Given the description of an element on the screen output the (x, y) to click on. 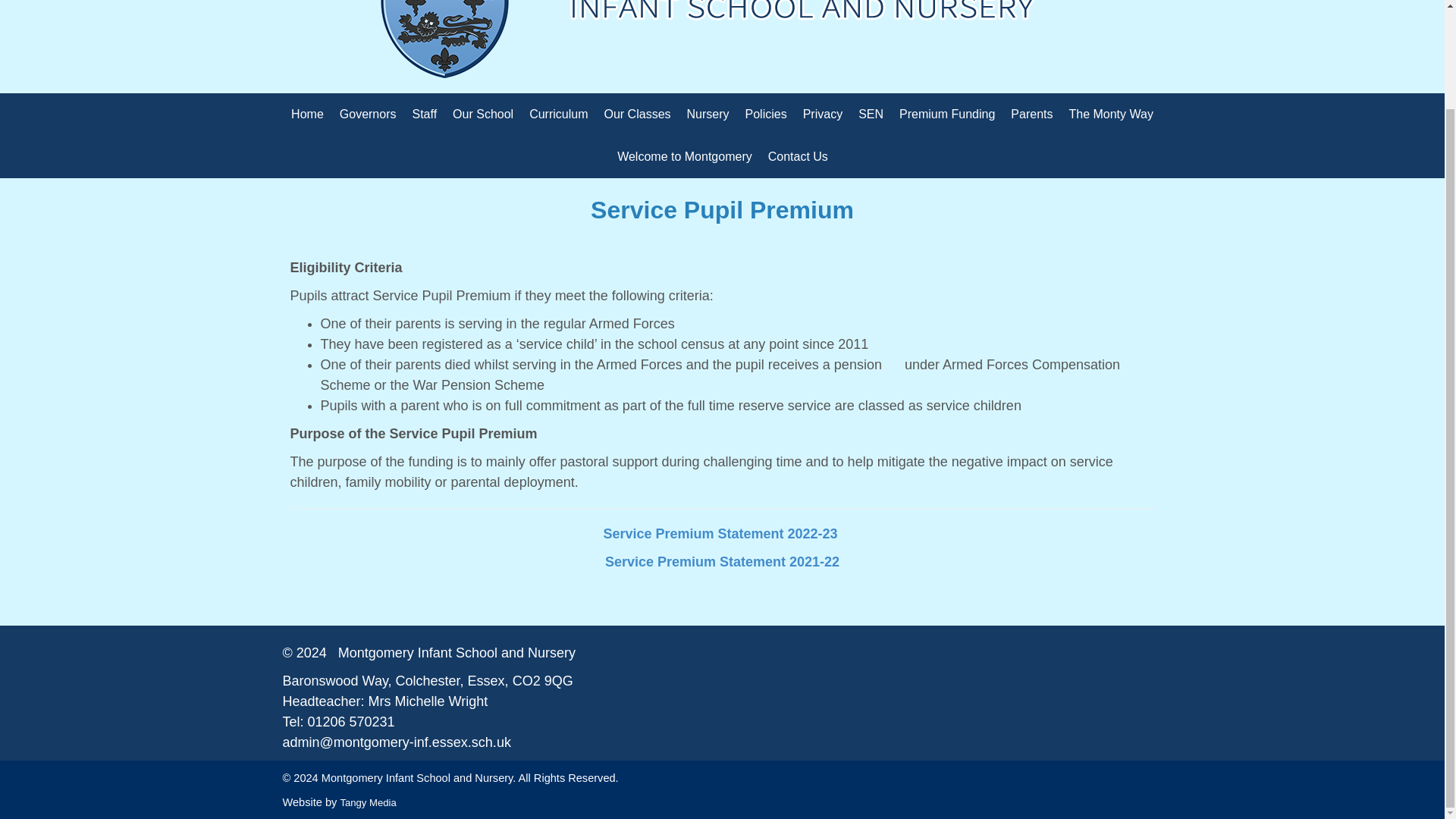
Governors (367, 114)
Curriculum (558, 114)
Our School (483, 114)
Welcome to Montgomery (685, 156)
Our Classes (636, 114)
Premium Funding (947, 114)
Privacy (822, 114)
Policies (766, 114)
Nursery (707, 114)
Staff (424, 114)
